Given the description of an element on the screen output the (x, y) to click on. 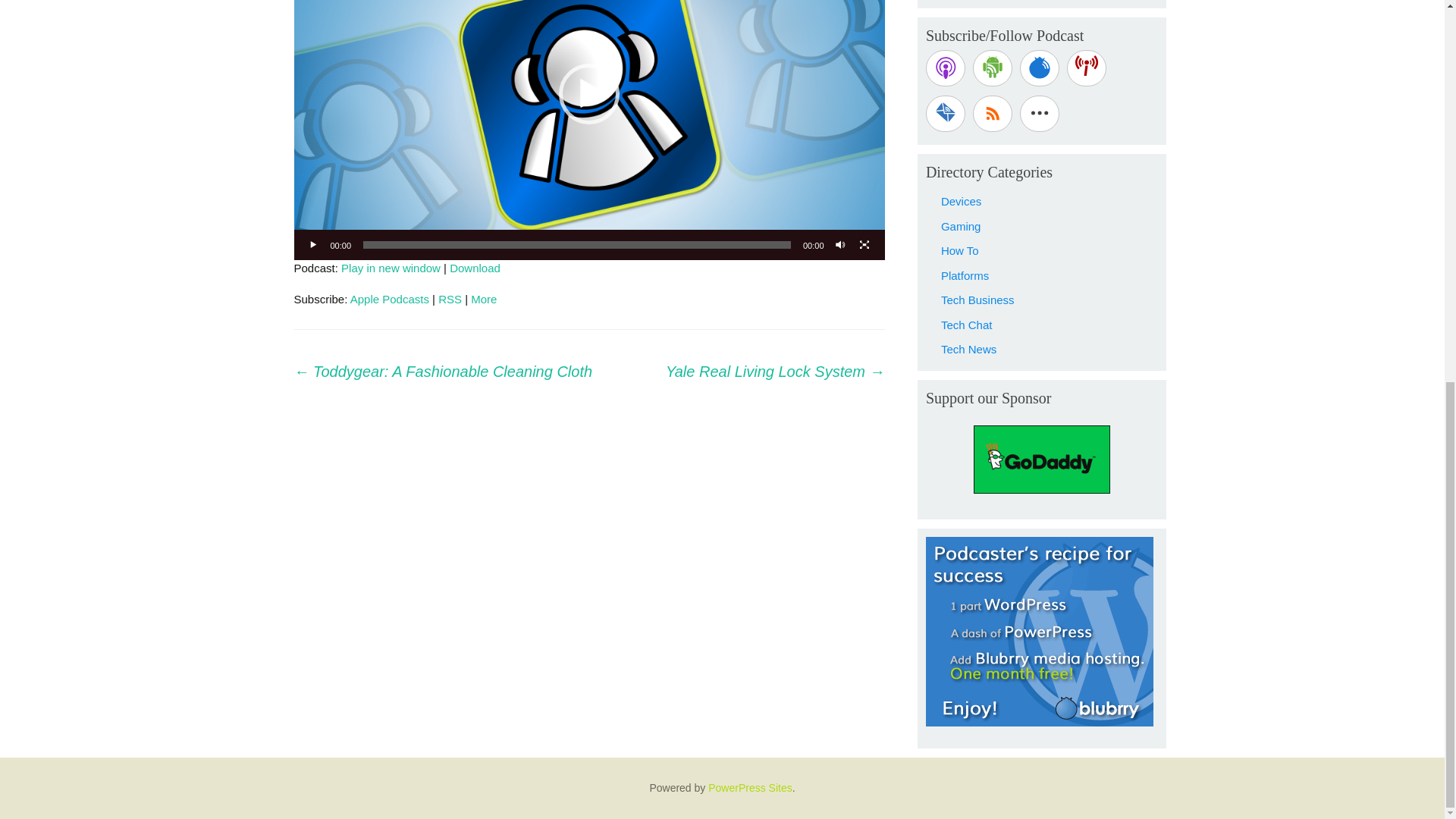
Subscribe via RSS (991, 113)
Subscribe on Blubrry (1039, 67)
Download (474, 267)
Apple Podcasts (389, 298)
Subscribe on Android (991, 67)
Mute (839, 244)
RSS (449, 298)
Subscribe on Podcast Index (1086, 67)
Subscribe on Apple Podcasts (945, 67)
Subscribe by Email (945, 113)
More (483, 298)
Fullscreen (864, 244)
Play in new window (390, 267)
More (483, 298)
Download (474, 267)
